Given the description of an element on the screen output the (x, y) to click on. 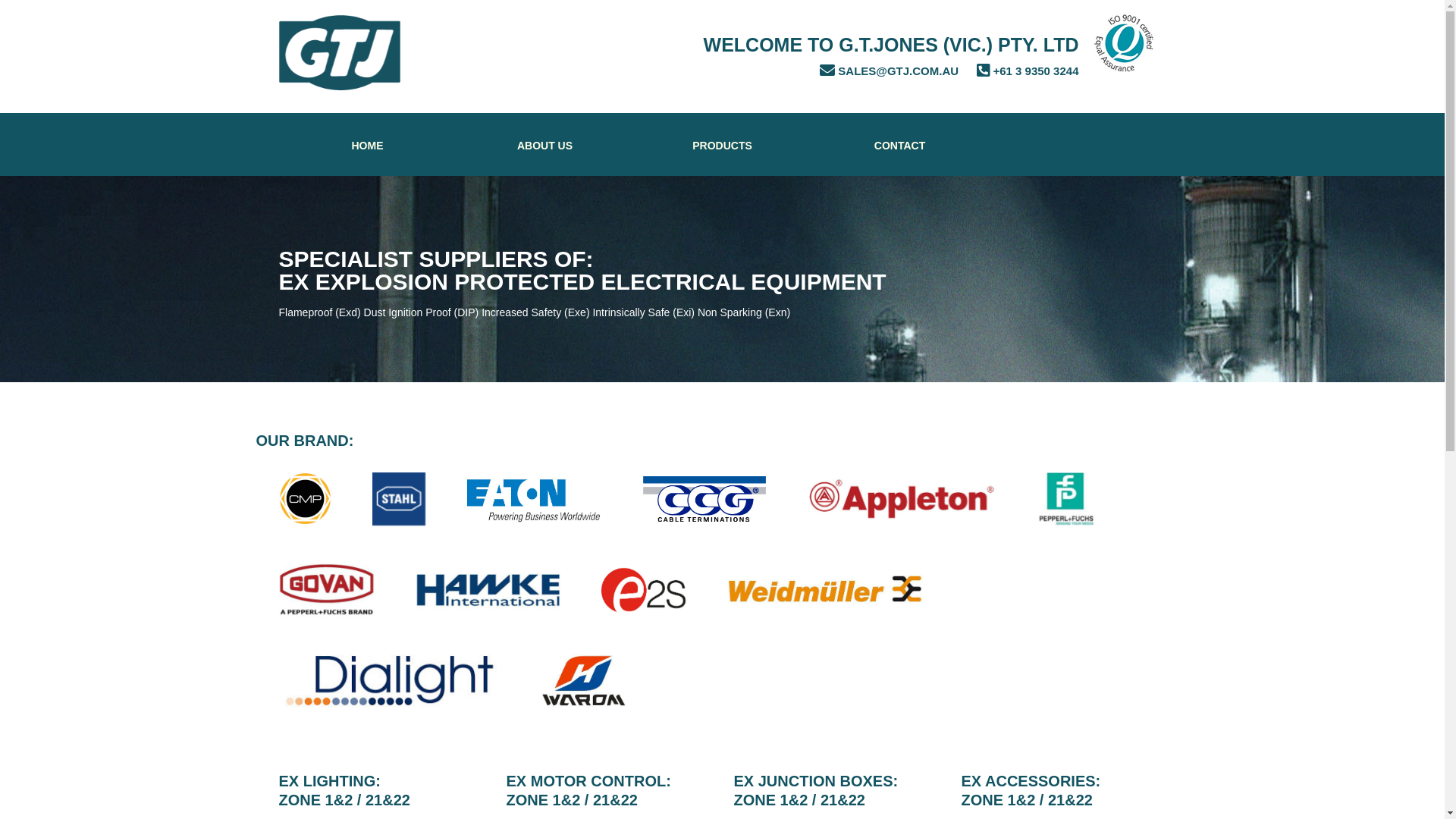
HOME Element type: text (367, 143)
CONTACT Element type: text (899, 143)
PRODUCTS Element type: text (722, 143)
ABOUT US Element type: text (544, 143)
